Given the description of an element on the screen output the (x, y) to click on. 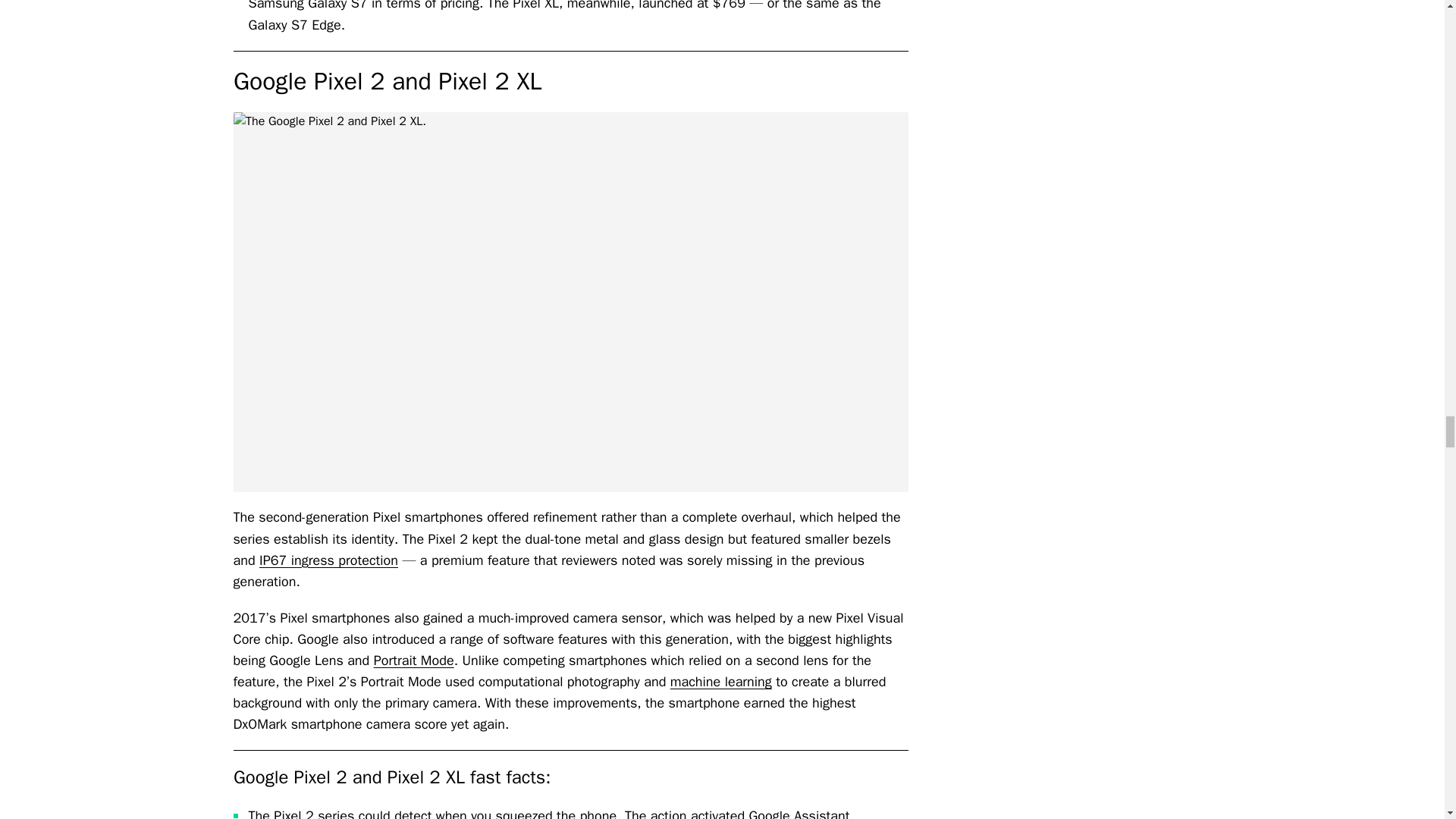
IP67 ingress protection (328, 560)
machine learning (720, 681)
Portrait Mode (414, 660)
